Given the description of an element on the screen output the (x, y) to click on. 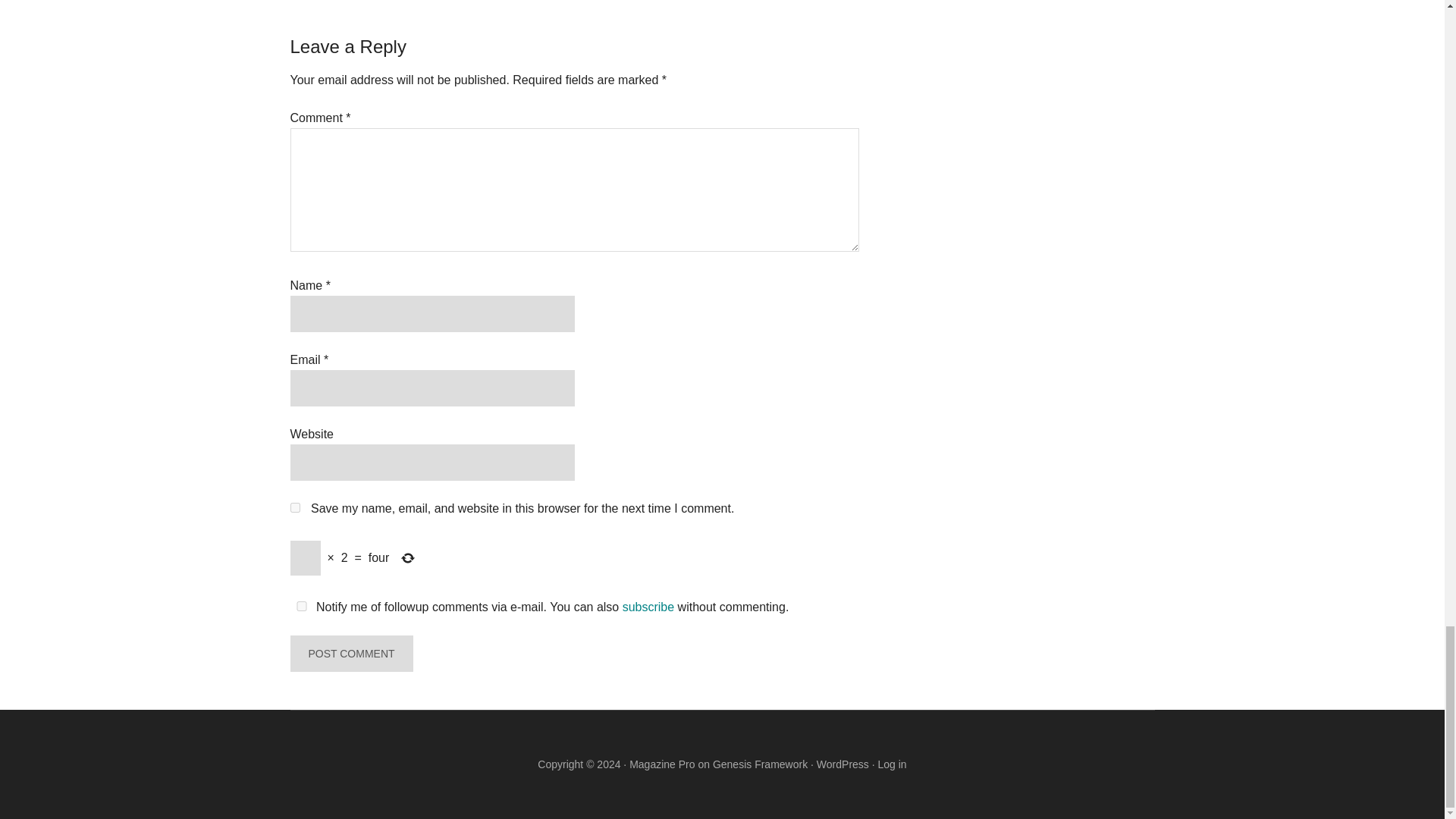
yes (301, 605)
subscribe (648, 606)
Post Comment (350, 653)
yes (294, 507)
Post Comment (350, 653)
